Given the description of an element on the screen output the (x, y) to click on. 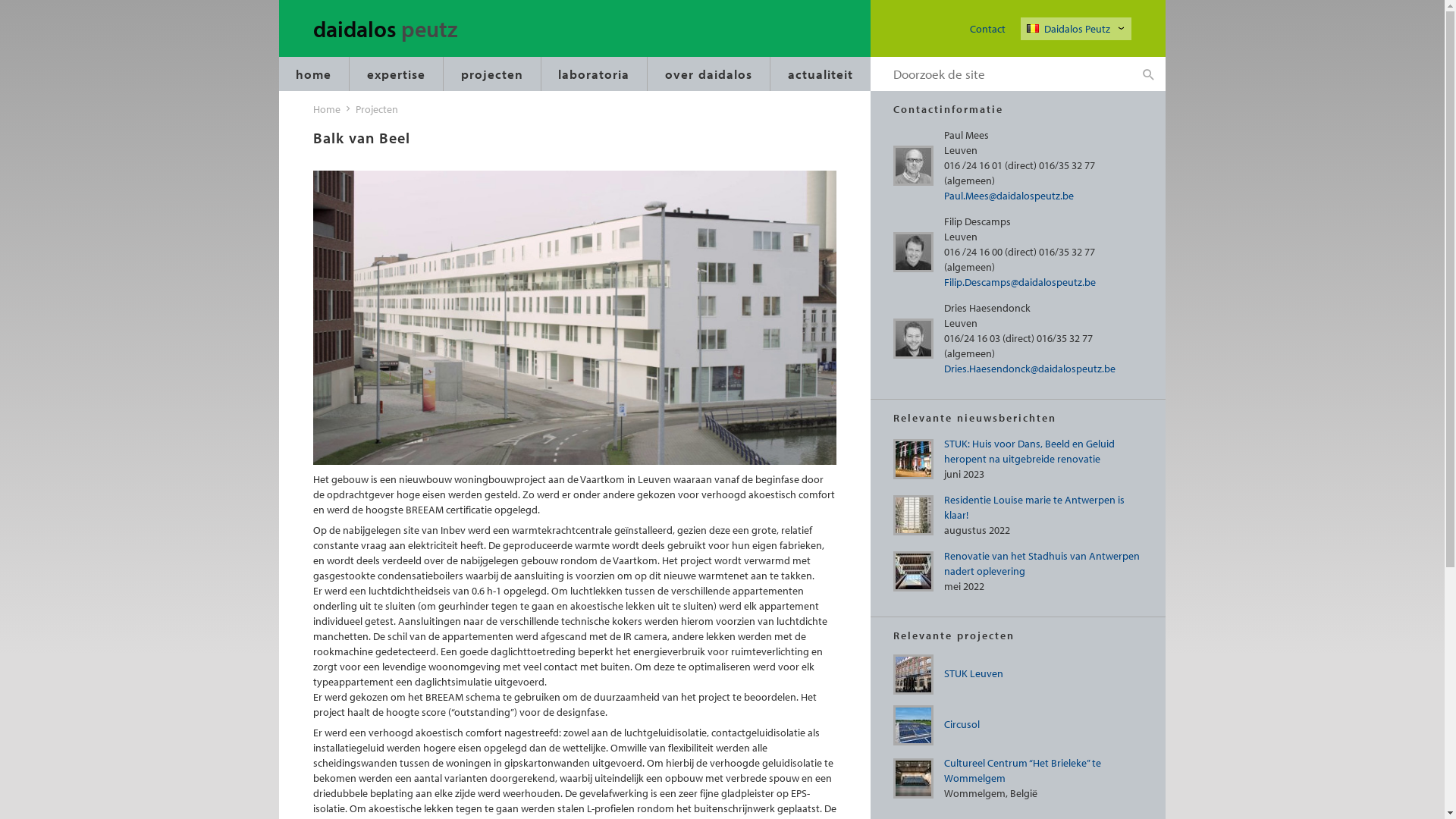
Filip.Descamps@daidalospeutz.be Element type: text (1019, 281)
Circusol Element type: text (961, 724)
Paul.Mees@daidalospeutz.be Element type: text (1008, 195)
actualiteit Element type: text (820, 73)
Geef de woorden op waarnaar u wilt zoeken. Element type: hover (1001, 73)
Overslaan en naar de inhoud gaan Element type: text (0, 0)
Residentie Louise marie te Antwerpen is klaar! Element type: text (1033, 506)
projecten Element type: text (491, 73)
home Element type: text (314, 73)
Renovatie van het Stadhuis van Antwerpen nadert oplevering Element type: text (1041, 563)
daidalos peutz Element type: text (405, 29)
laboratoria Element type: text (594, 73)
Contact Element type: text (987, 28)
STUK Leuven Element type: text (972, 673)
Home Element type: text (325, 109)
expertise Element type: text (395, 73)
Projecten Element type: text (375, 109)
over daidalos Element type: text (708, 73)
Daidalos Peutz Element type: text (1078, 28)
Dries.Haesendonck@daidalospeutz.be Element type: text (1028, 368)
